Given the description of an element on the screen output the (x, y) to click on. 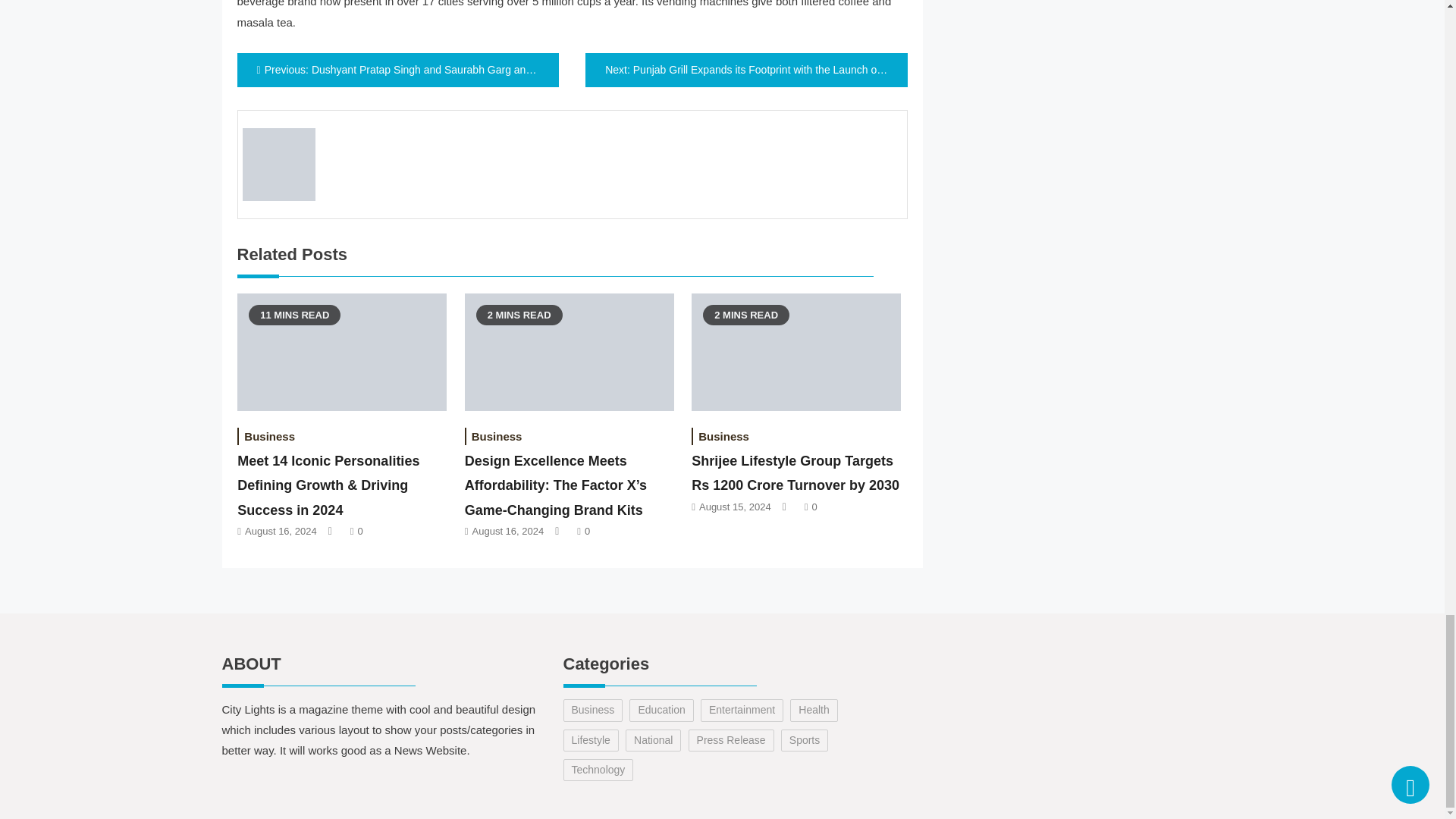
August 16, 2024 (507, 531)
Business (723, 436)
Business (269, 436)
August 15, 2024 (734, 506)
Business (496, 436)
August 16, 2024 (280, 531)
